Given the description of an element on the screen output the (x, y) to click on. 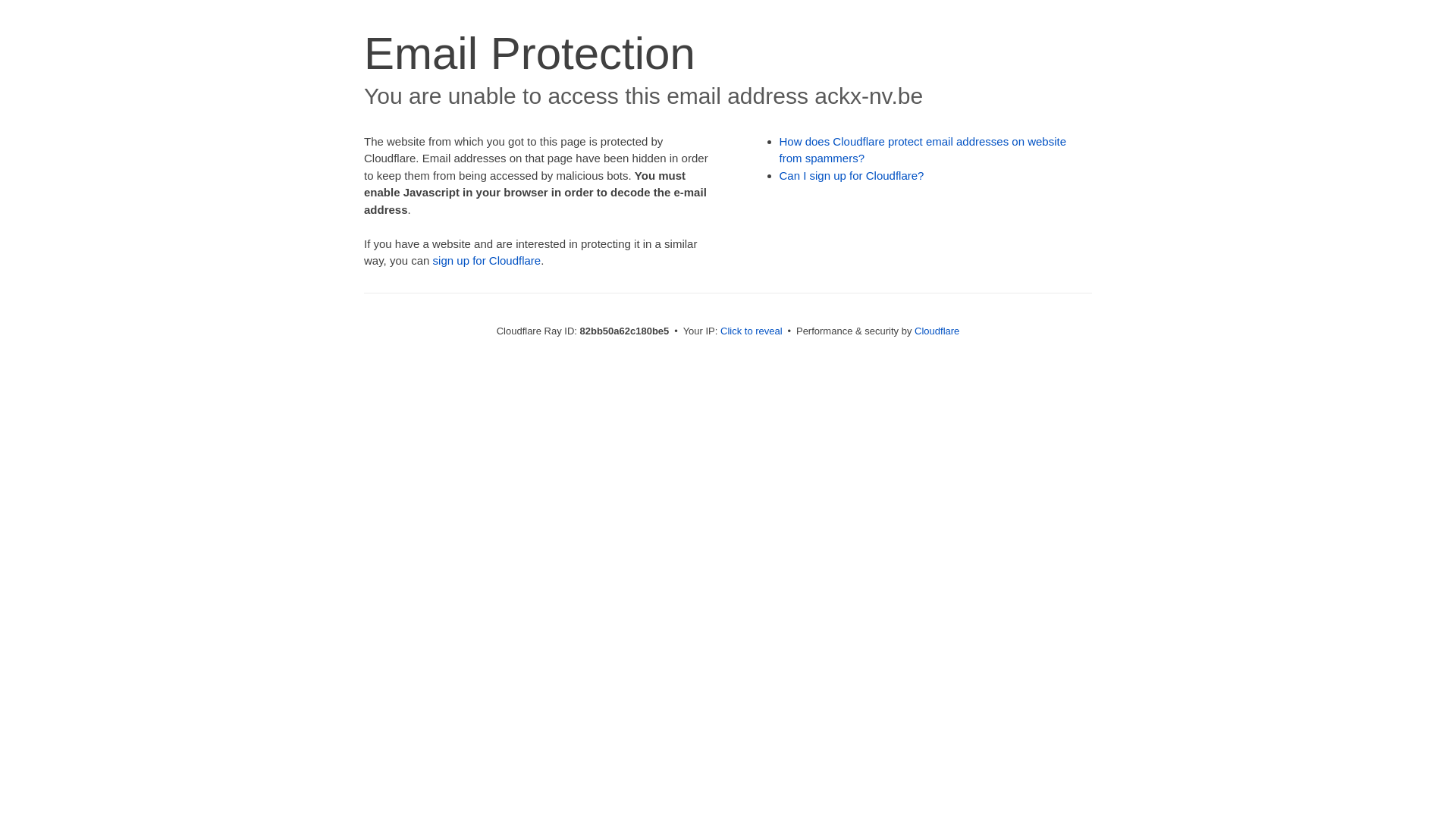
Click to reveal Element type: text (751, 330)
Can I sign up for Cloudflare? Element type: text (851, 175)
Cloudflare Element type: text (936, 330)
sign up for Cloudflare Element type: text (487, 260)
